Given the description of an element on the screen output the (x, y) to click on. 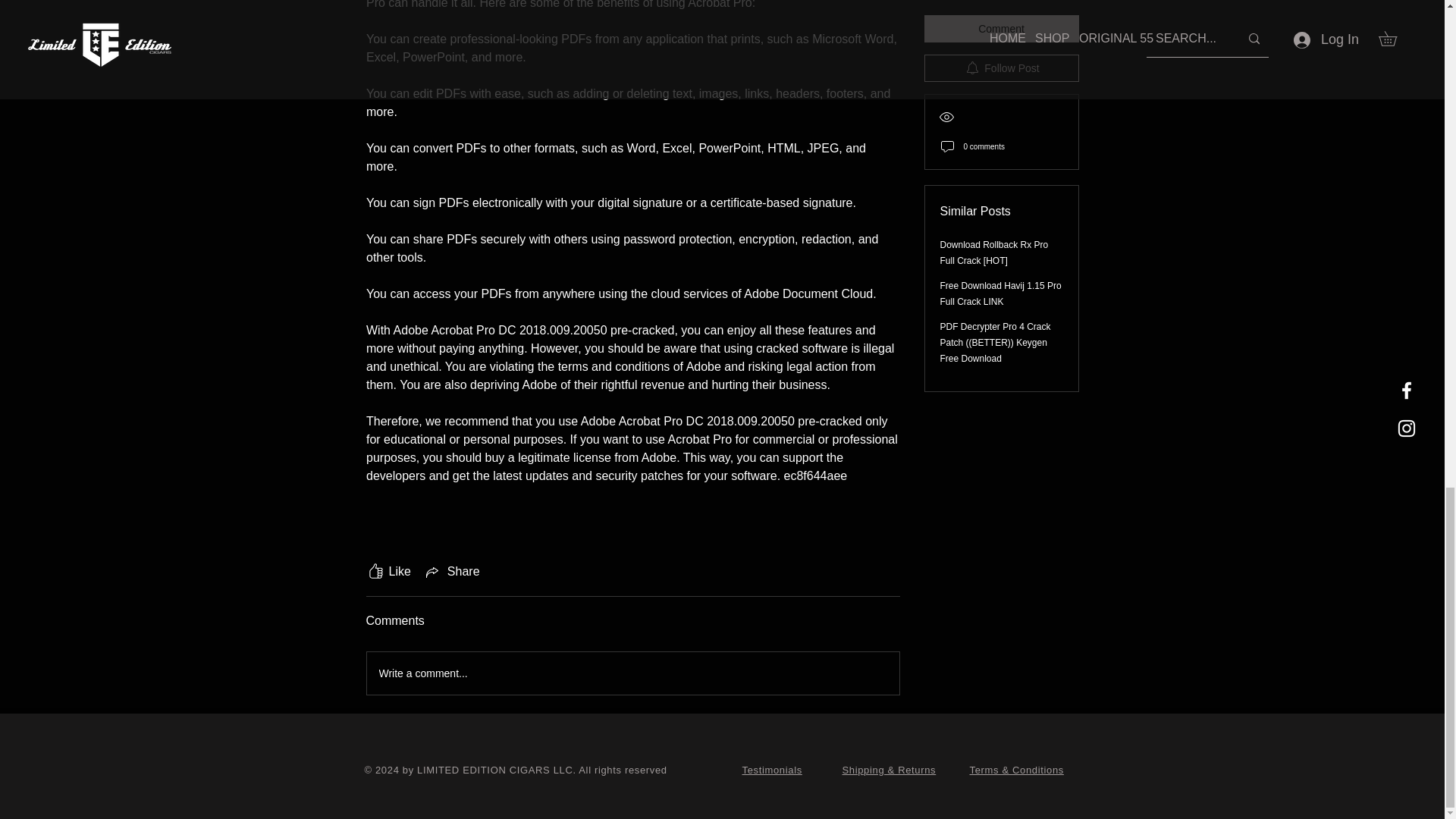
Testimonials (771, 769)
Write a comment... (632, 672)
Like (387, 571)
Share (451, 571)
